Given the description of an element on the screen output the (x, y) to click on. 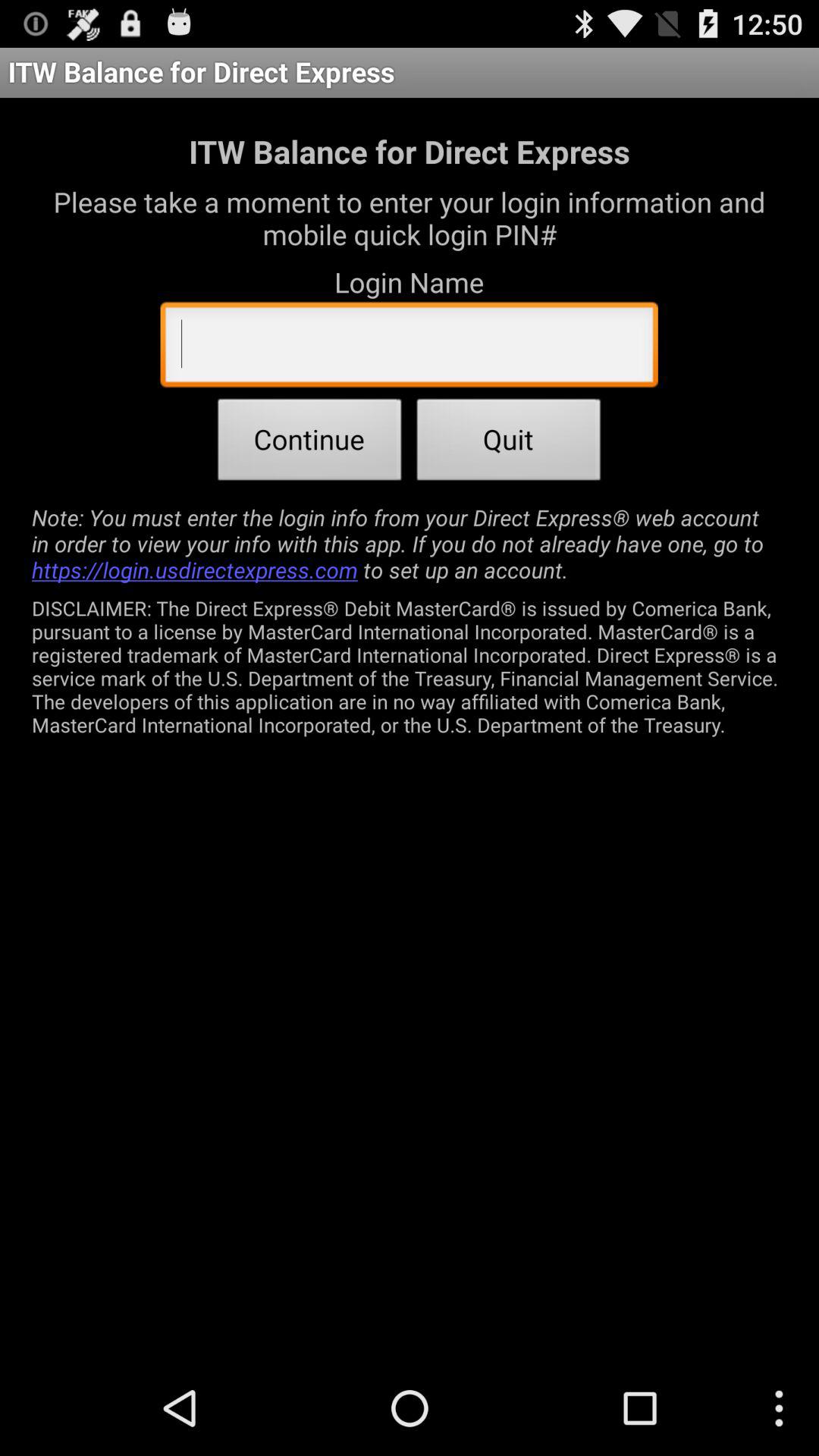
scroll until quit (508, 443)
